Given the description of an element on the screen output the (x, y) to click on. 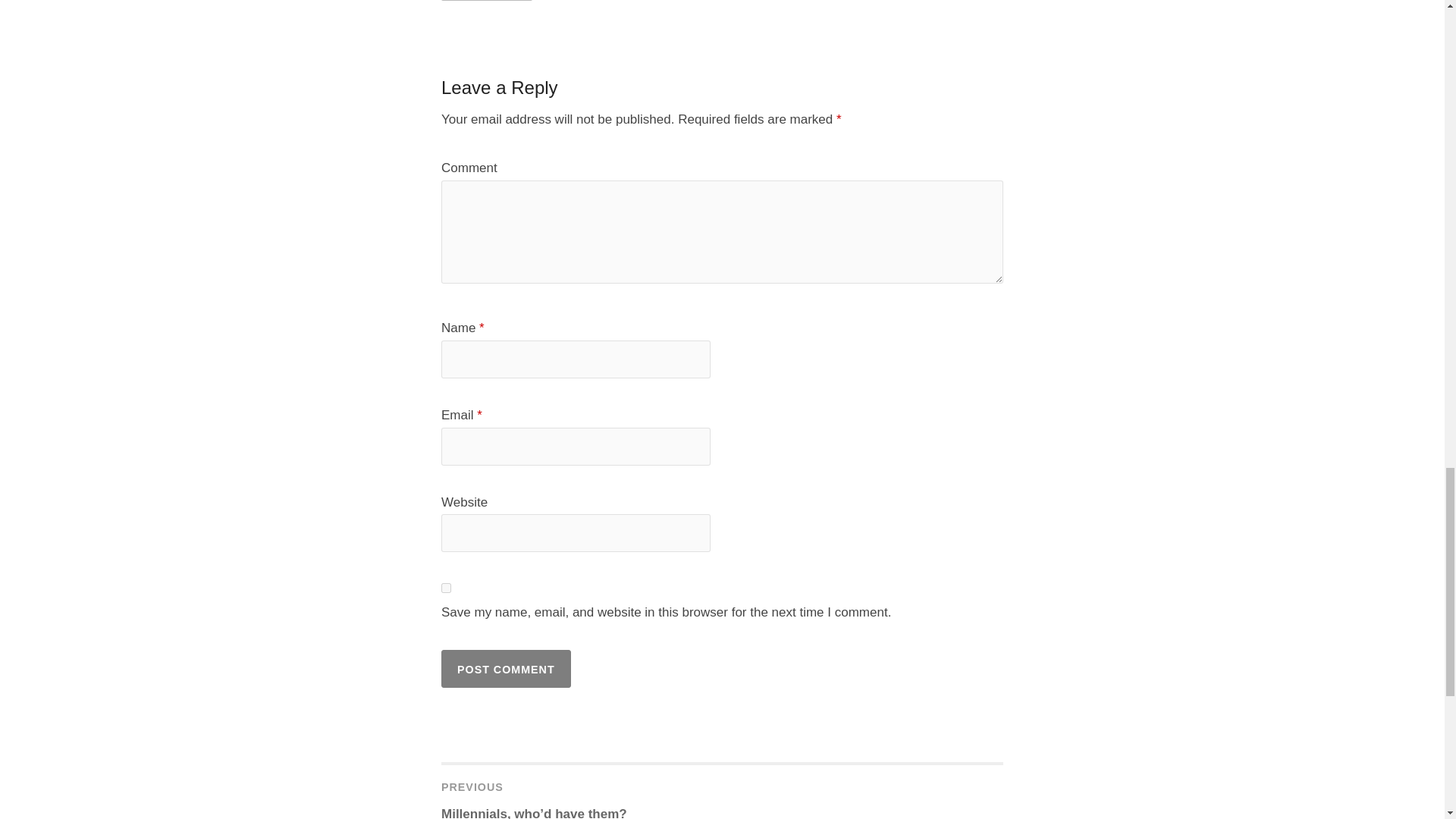
Post Comment (505, 668)
Post Comment (505, 668)
yes (446, 587)
